Given the description of an element on the screen output the (x, y) to click on. 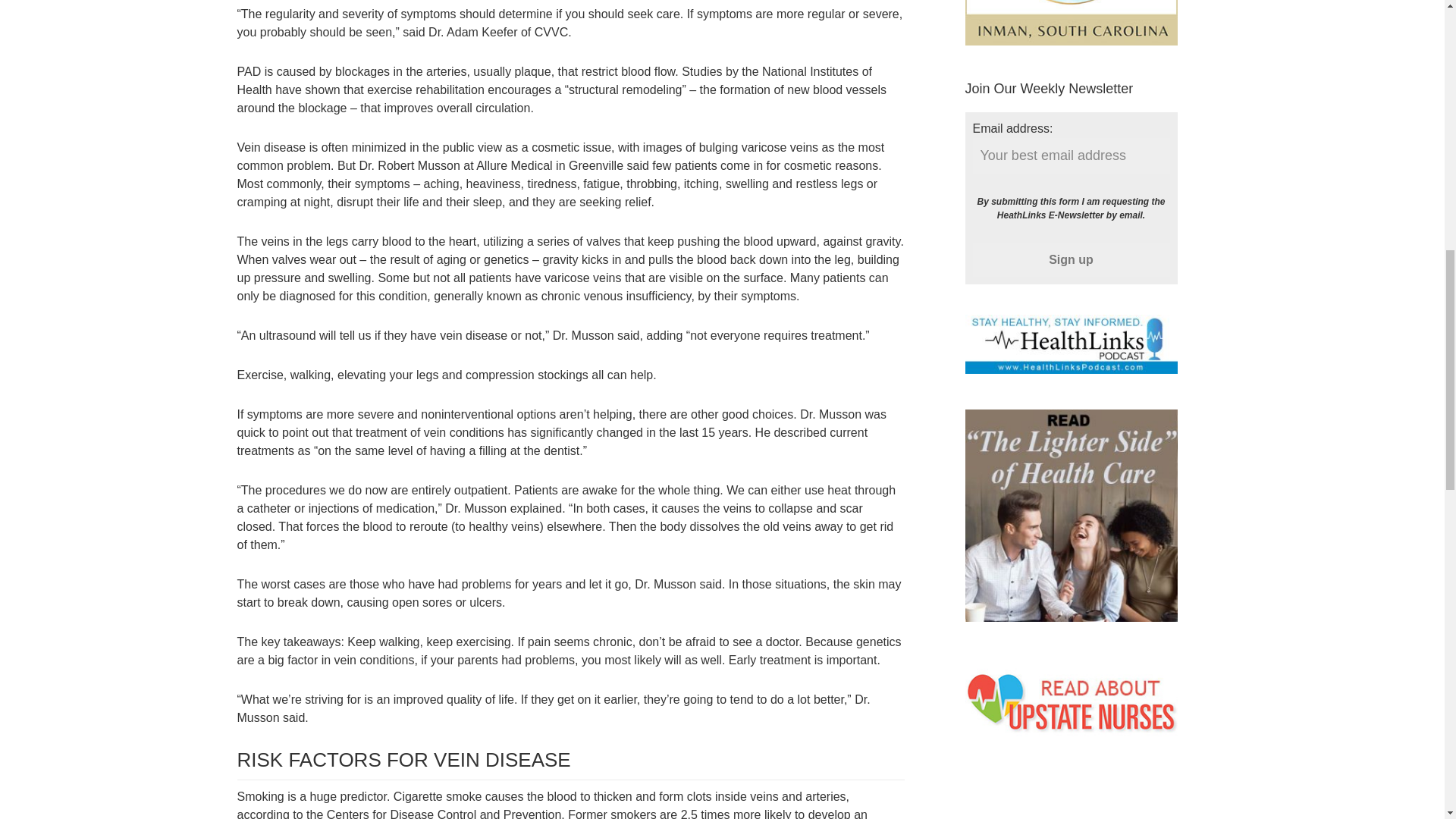
Sign up (1070, 259)
Sign up (1070, 259)
